Given the description of an element on the screen output the (x, y) to click on. 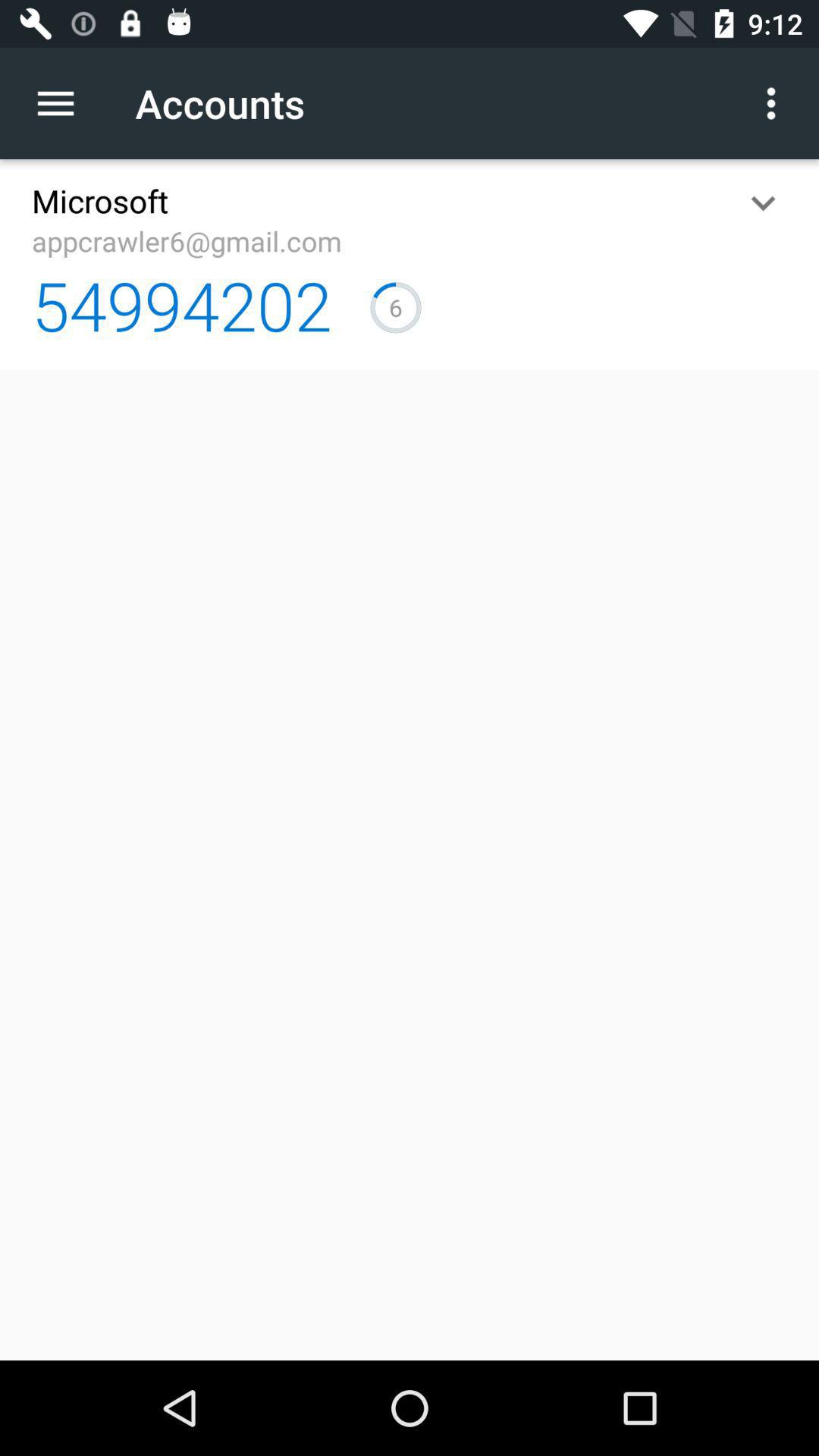
tap microsoft app (99, 200)
